Given the description of an element on the screen output the (x, y) to click on. 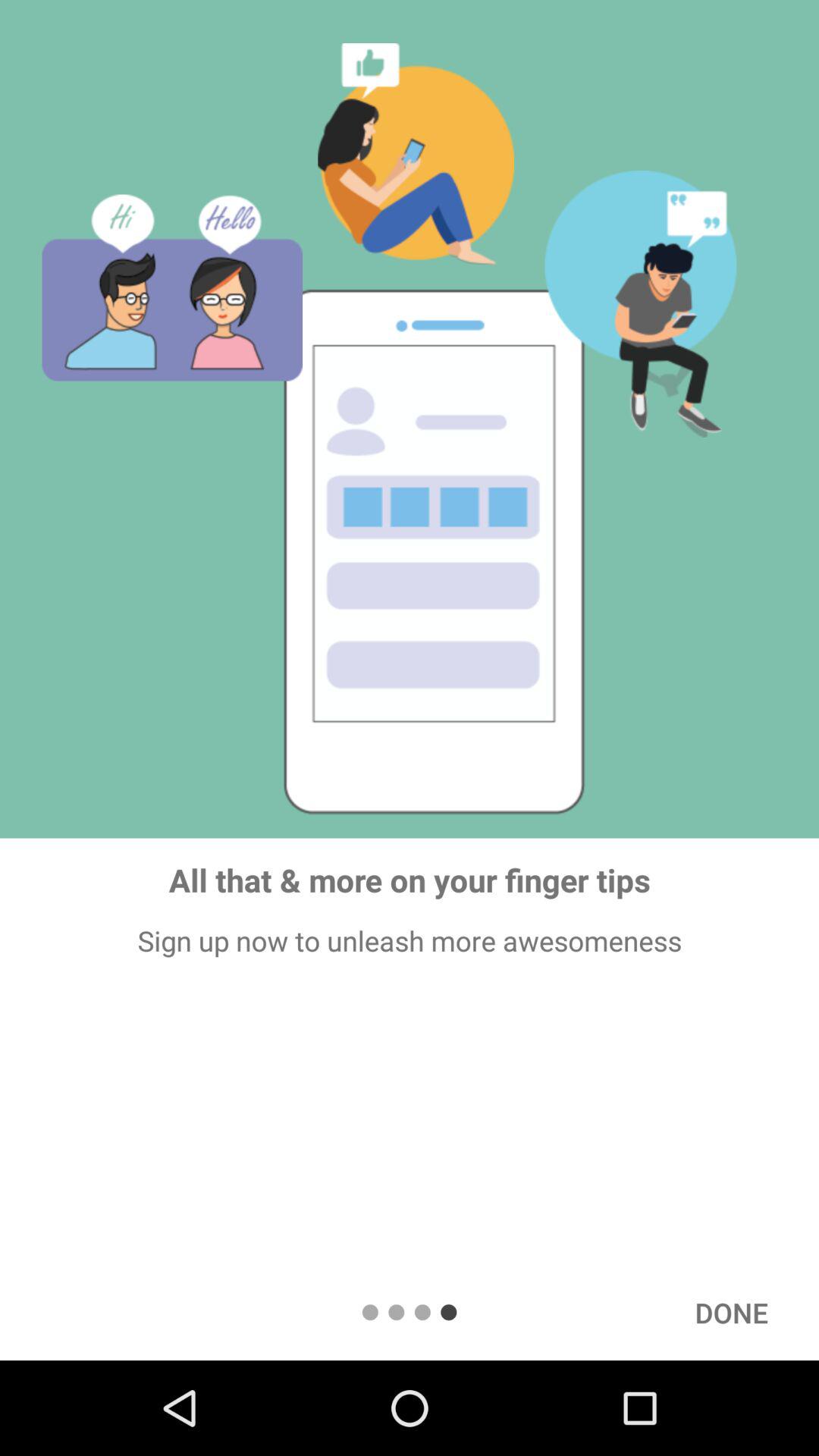
swipe to done icon (731, 1312)
